Given the description of an element on the screen output the (x, y) to click on. 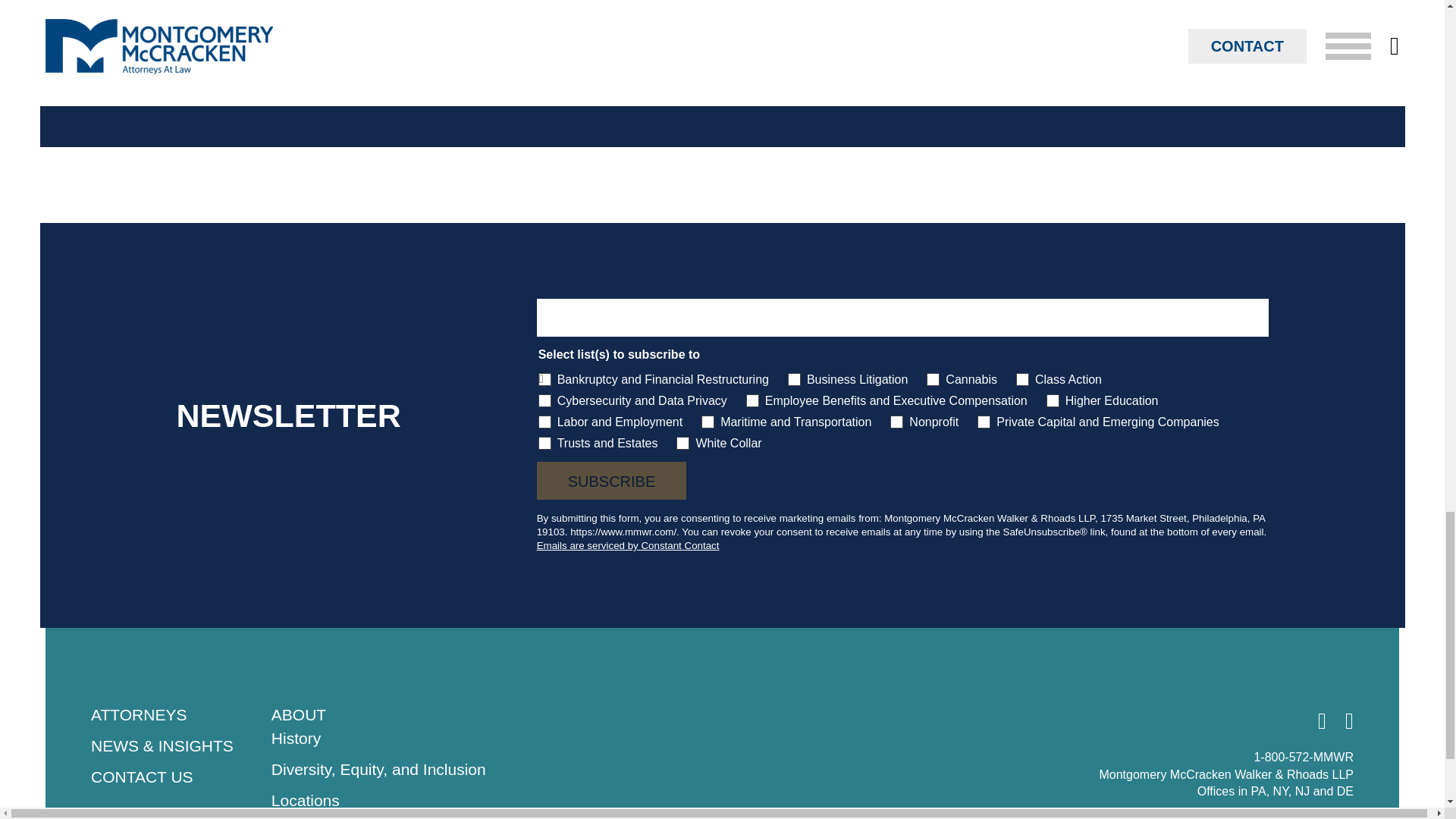
Learn more about our Technology Industry (503, 81)
ABOUT (298, 714)
Diversity, Equity, and Inclusion (378, 769)
History (295, 737)
CONTACT US (141, 776)
Emails are serviced by Constant Contact (628, 545)
Locations (304, 800)
Subscribe (612, 480)
ATTORNEYS (138, 714)
Subscribe (612, 480)
